Given the description of an element on the screen output the (x, y) to click on. 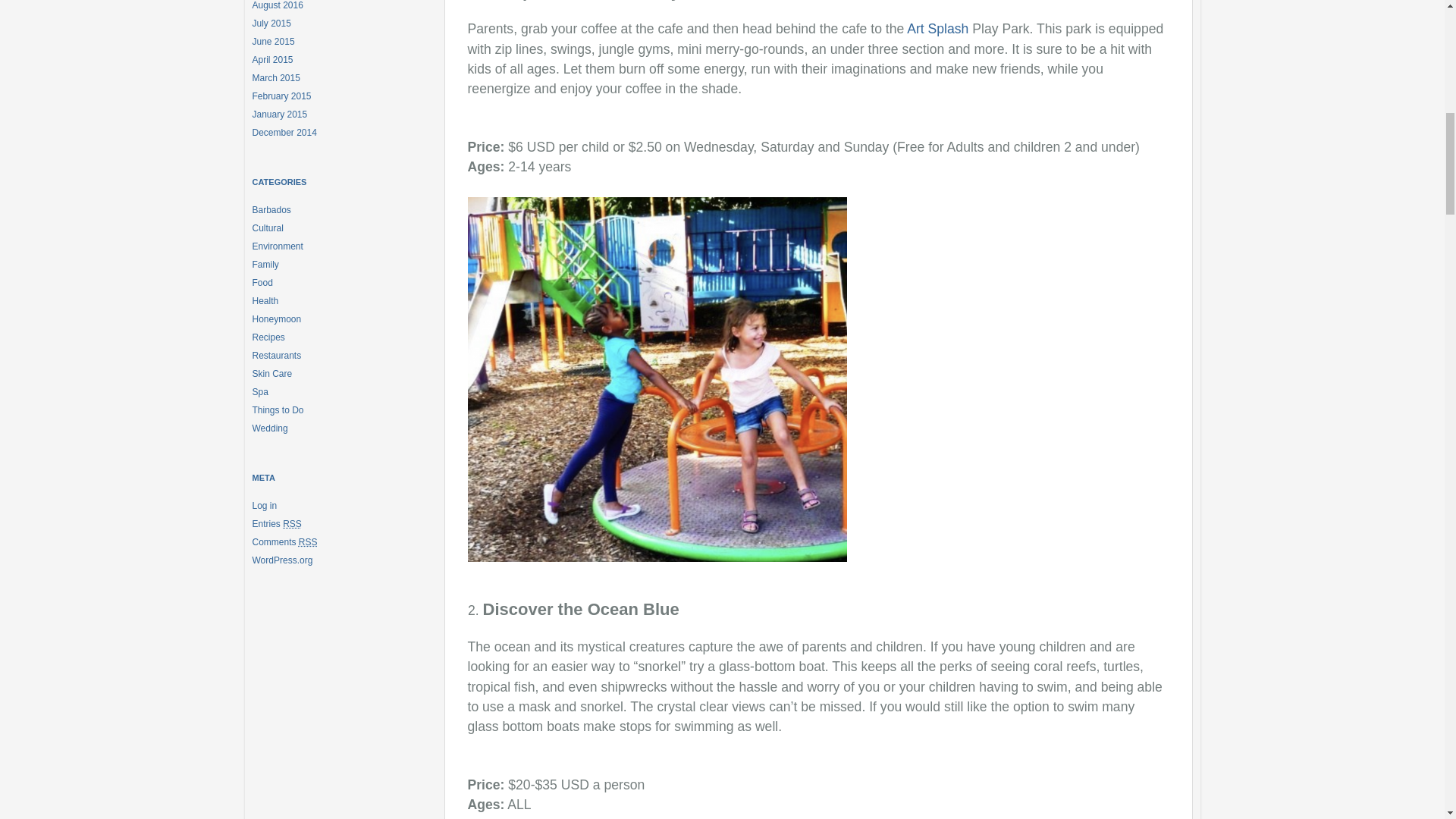
Art Splash (937, 28)
Really Simple Syndication (291, 523)
Really Simple Syndication (307, 542)
